Given the description of an element on the screen output the (x, y) to click on. 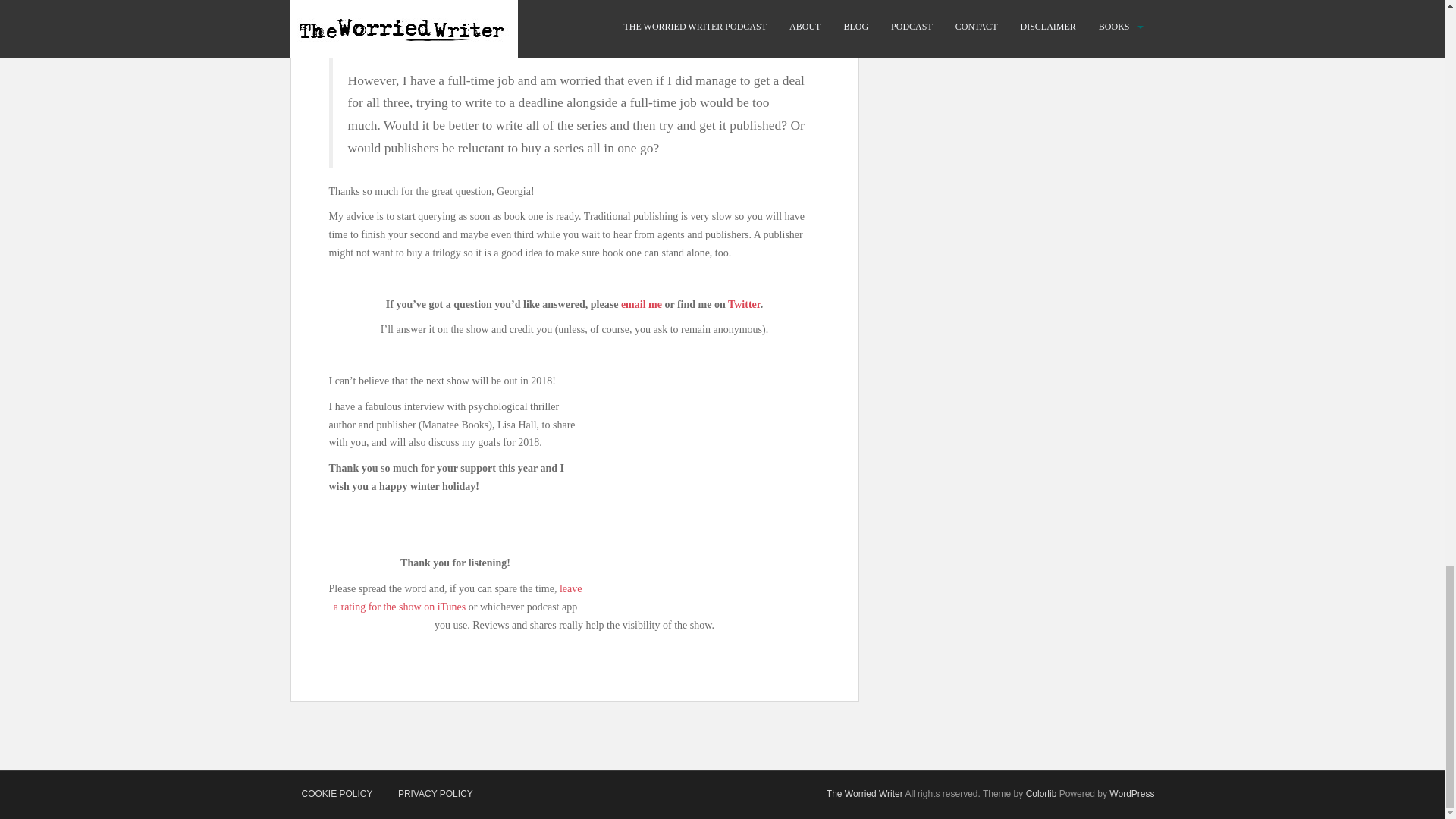
email me (641, 304)
Twitter (744, 304)
leave a rating for the show on iTunes (457, 597)
The Worried Writer (864, 793)
